Given the description of an element on the screen output the (x, y) to click on. 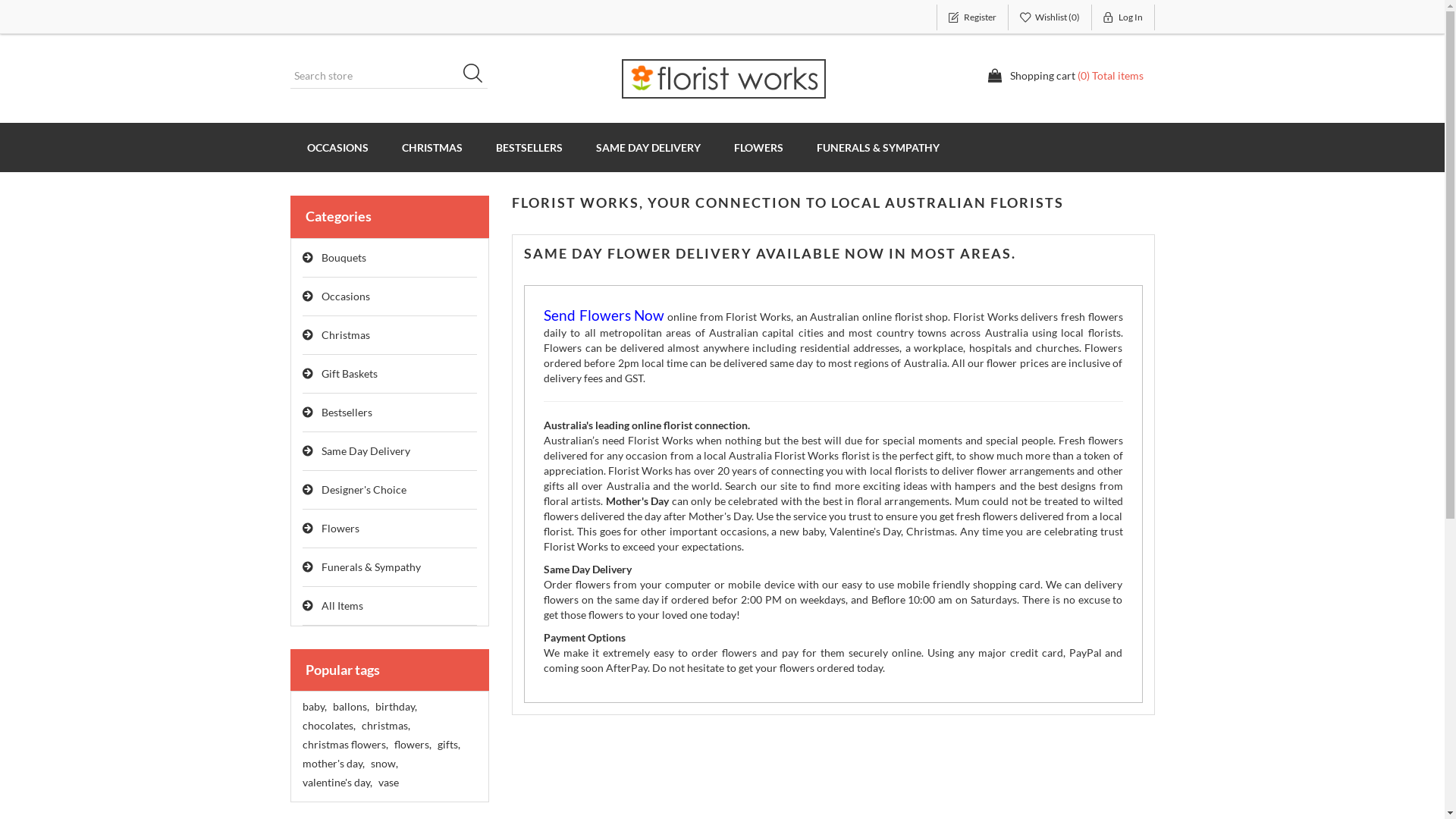
Bestsellers Element type: text (388, 412)
vase Element type: text (387, 782)
Funerals & Sympathy Element type: text (388, 567)
baby, Element type: text (313, 706)
Occasions Element type: text (388, 296)
christmas, Element type: text (384, 725)
Wishlist (0) Element type: text (1050, 17)
FLOWERS Element type: text (758, 147)
OCCASIONS Element type: text (336, 147)
Register Element type: text (971, 17)
FUNERALS & SYMPATHY Element type: text (877, 147)
valentine's day, Element type: text (336, 782)
Shopping cart (0) Total items Element type: text (1065, 75)
chocolates, Element type: text (327, 725)
Christmas Element type: text (388, 335)
CHRISTMAS Element type: text (432, 147)
Bouquets Element type: text (388, 257)
All Items Element type: text (388, 605)
Flowers Element type: text (388, 528)
Designer's Choice Element type: text (388, 489)
BESTSELLERS Element type: text (529, 147)
mother's day, Element type: text (332, 763)
flowers, Element type: text (412, 744)
Log In Element type: text (1123, 17)
birthday, Element type: text (395, 706)
ballons, Element type: text (350, 706)
Same Day Delivery Element type: text (388, 451)
Send Flowers Now Element type: text (603, 316)
snow, Element type: text (383, 763)
gifts, Element type: text (447, 744)
christmas flowers, Element type: text (344, 744)
Gift Baskets Element type: text (388, 373)
SAME DAY DELIVERY Element type: text (648, 147)
